Given the description of an element on the screen output the (x, y) to click on. 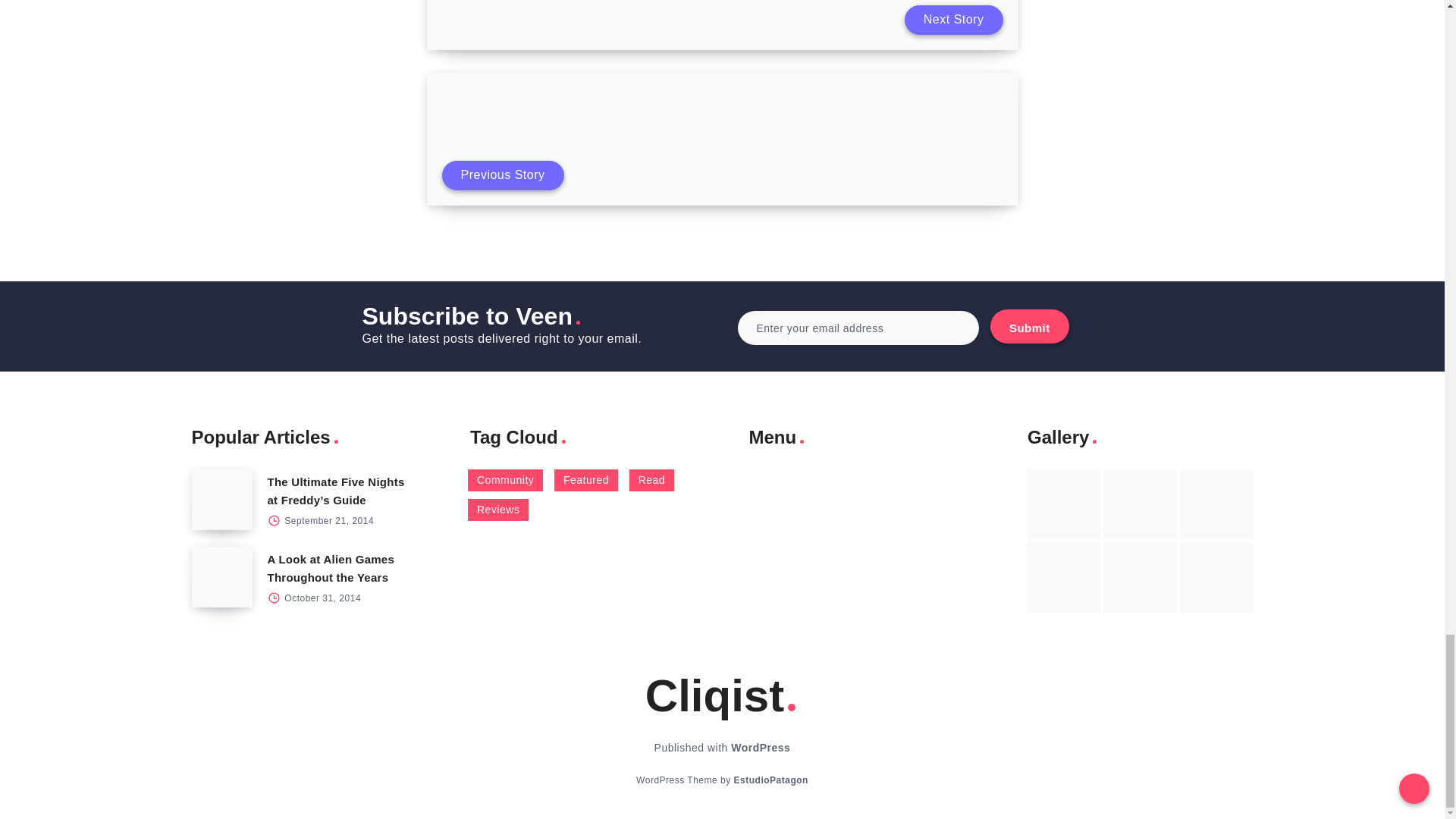
Powered with Veen (770, 779)
Pink paper over blue background (1063, 503)
Submit (1029, 326)
Old music caption (1216, 503)
A Look at Alien Games Throughout the Years (330, 567)
Community (505, 480)
Retro Camera (1139, 503)
Just a nice paint (1139, 576)
